Given the description of an element on the screen output the (x, y) to click on. 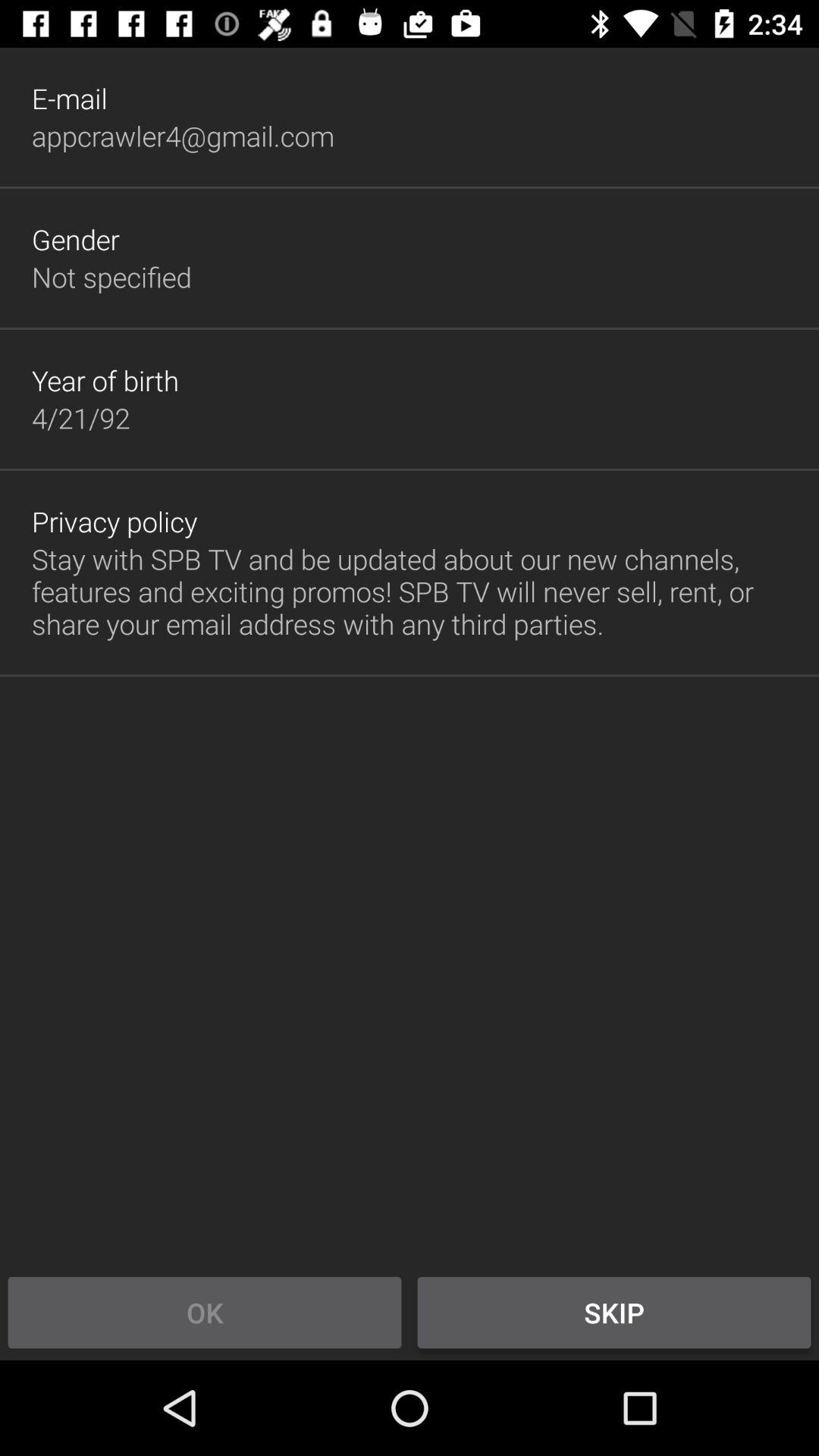
turn off the item above the appcrawler4@gmail.com (69, 98)
